Given the description of an element on the screen output the (x, y) to click on. 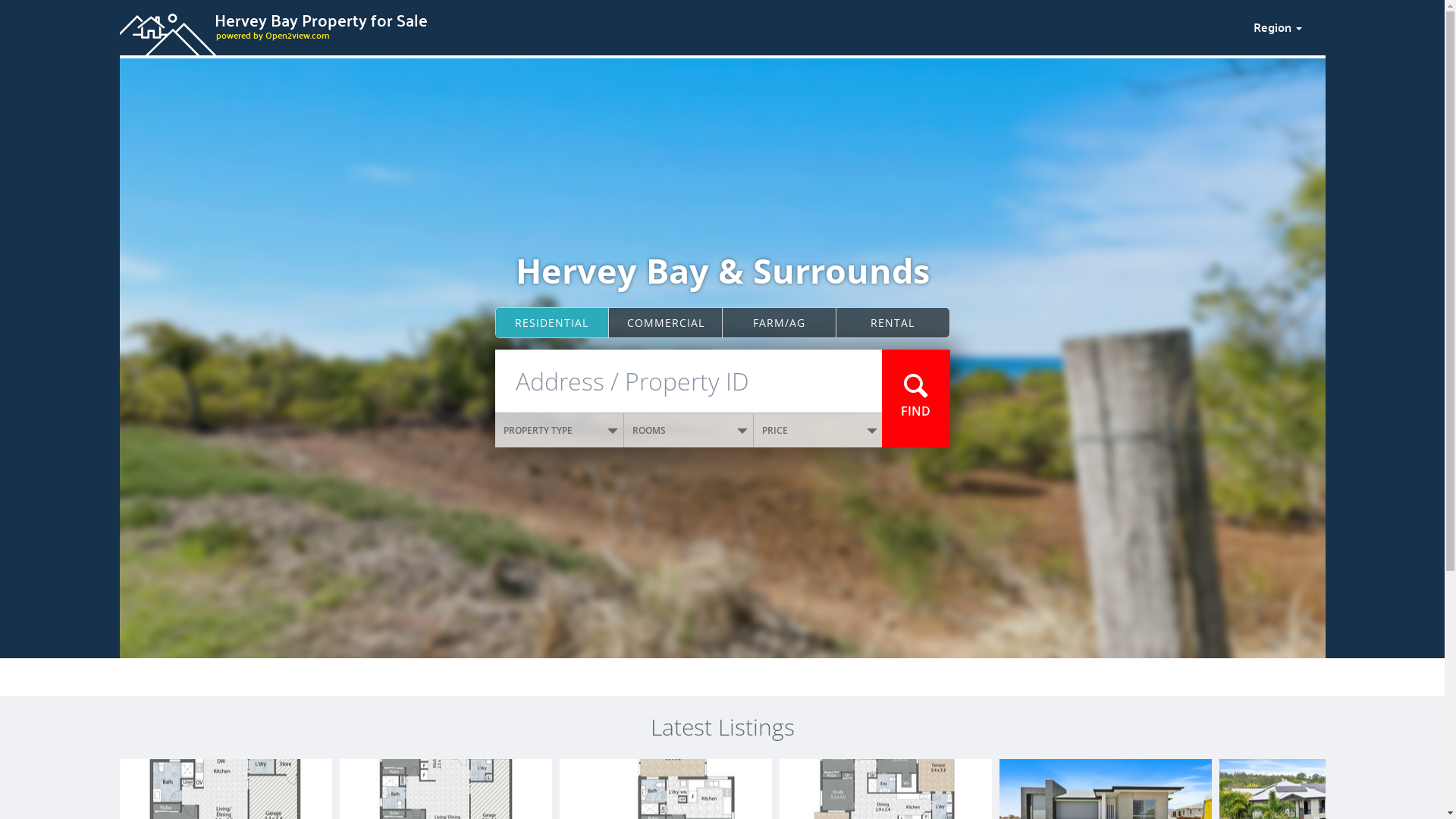
PROPERTY TYPE Element type: text (559, 430)
Hervey Bay Property for Sale
powered by Open2view.com Element type: text (676, 25)
ROOMS Element type: text (688, 430)
PRICE Element type: text (817, 430)
